Given the description of an element on the screen output the (x, y) to click on. 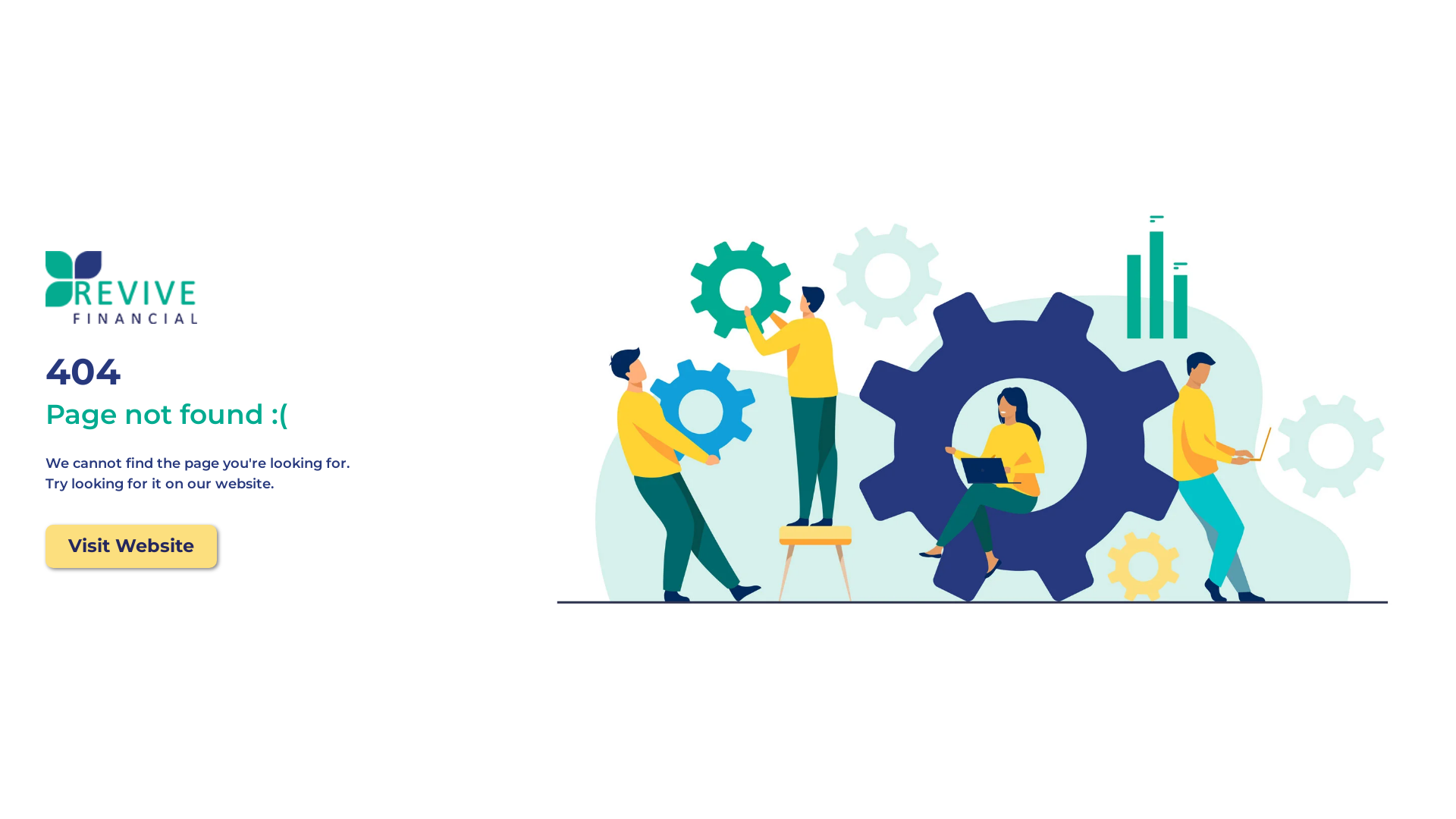
Visit Website Element type: text (130, 545)
